Given the description of an element on the screen output the (x, y) to click on. 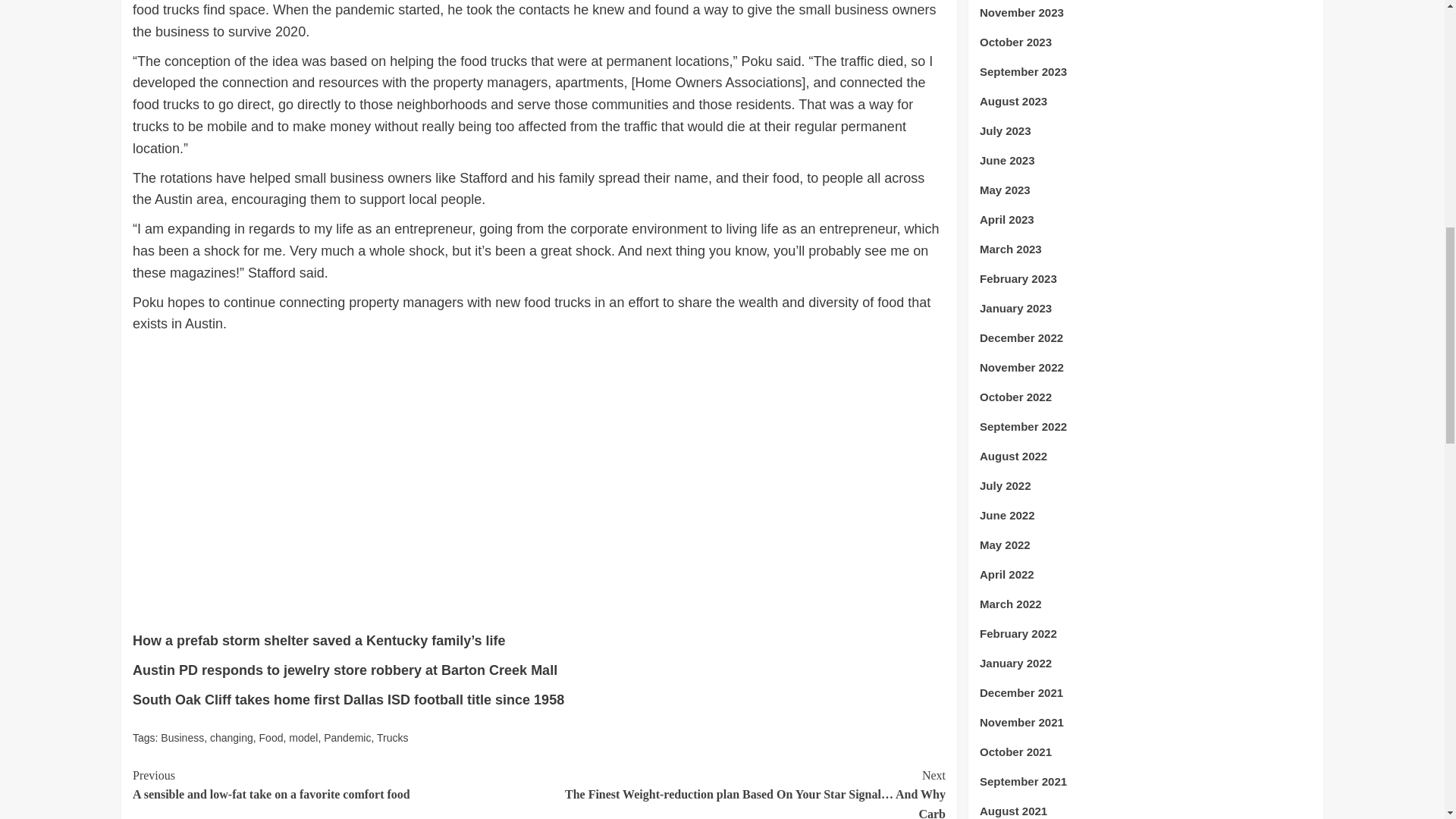
Business (181, 737)
model (302, 737)
Pandemic (347, 737)
Trucks (392, 737)
changing (231, 737)
Food (271, 737)
